Given the description of an element on the screen output the (x, y) to click on. 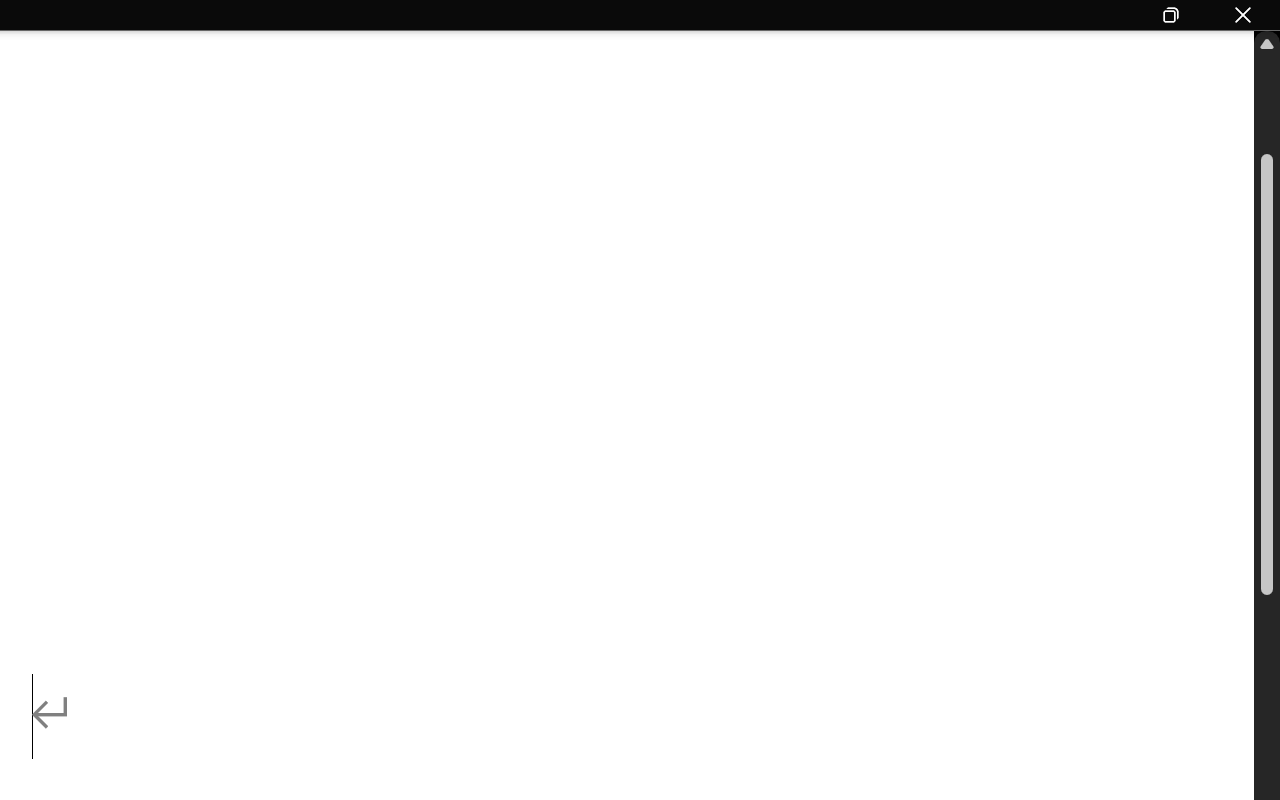
Restore Down (1172, 15)
Close (1244, 15)
